Given the description of an element on the screen output the (x, y) to click on. 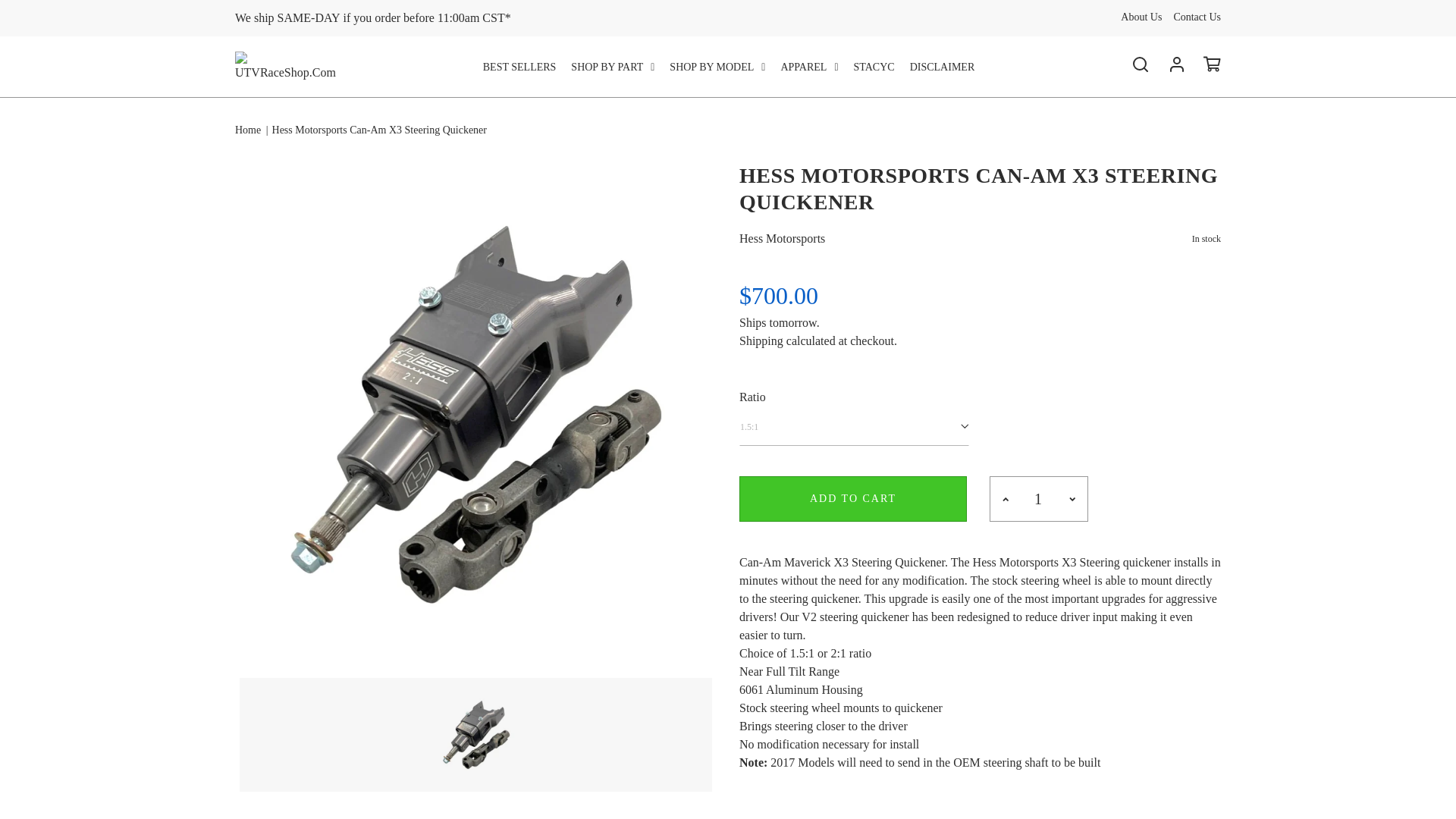
SHOP BY PART (611, 66)
About Us (1141, 17)
Contact Us (1197, 17)
BEST SELLERS (519, 66)
